Given the description of an element on the screen output the (x, y) to click on. 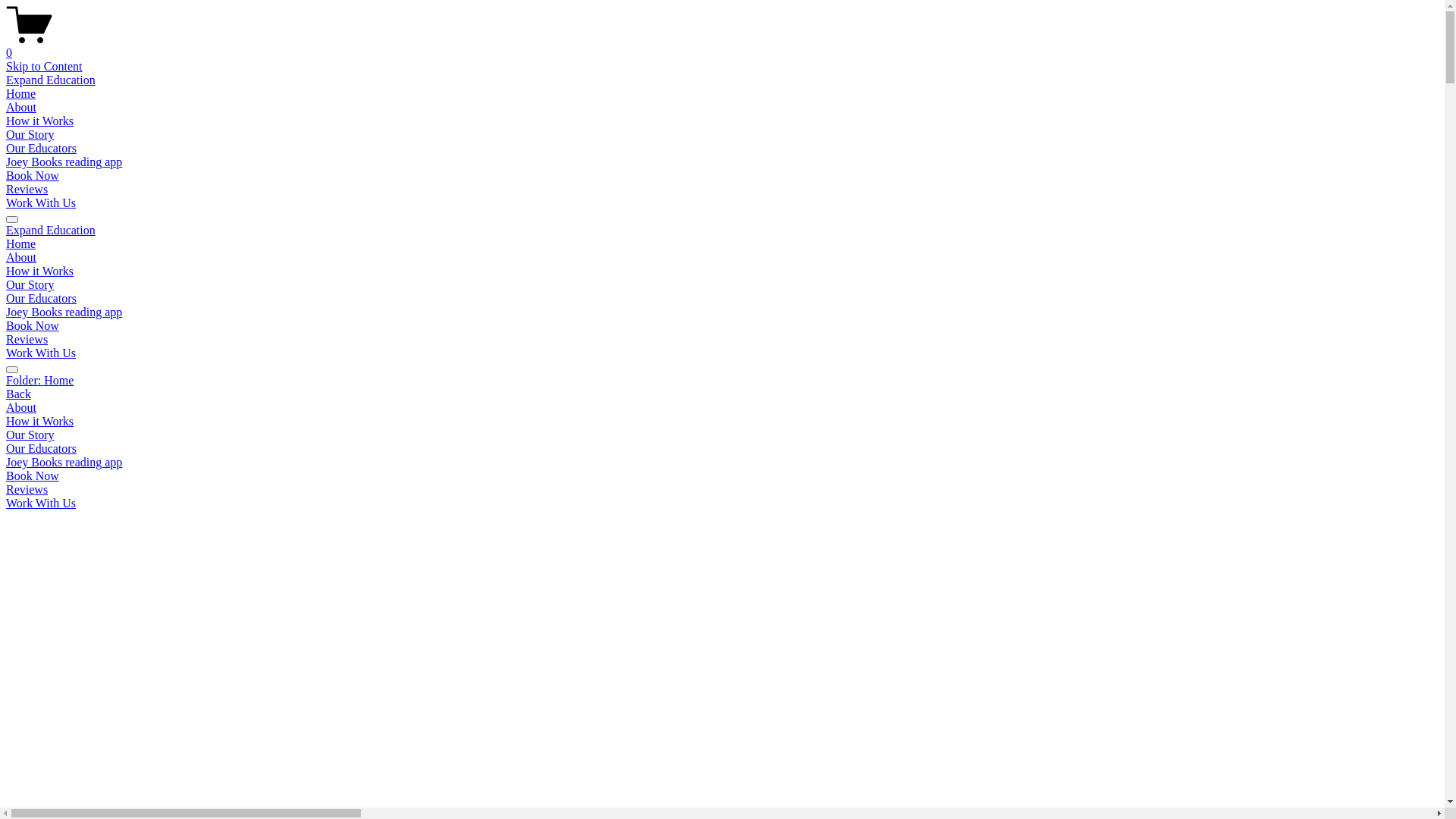
Our Educators Element type: text (722, 448)
How it Works Element type: text (39, 270)
Work With Us Element type: text (722, 503)
Our Educators Element type: text (41, 147)
Work With Us Element type: text (40, 352)
Our Story Element type: text (30, 284)
Back Element type: text (18, 393)
About Element type: text (722, 407)
About Element type: text (21, 106)
Joey Books reading app Element type: text (722, 462)
Work With Us Element type: text (40, 202)
Home Element type: text (20, 243)
Reviews Element type: text (26, 188)
Reviews Element type: text (26, 338)
Book Now Element type: text (32, 175)
Folder: Home Element type: text (722, 380)
Skip to Content Element type: text (43, 65)
Joey Books reading app Element type: text (64, 311)
How it Works Element type: text (722, 421)
Book Now Element type: text (722, 476)
Expand Education Element type: text (50, 79)
Reviews Element type: text (722, 489)
Our Story Element type: text (30, 134)
Home Element type: text (20, 93)
Expand Education Element type: text (50, 229)
Book Now Element type: text (32, 325)
Our Story Element type: text (722, 435)
About Element type: text (21, 257)
0 Element type: text (722, 45)
Our Educators Element type: text (41, 297)
Joey Books reading app Element type: text (64, 161)
How it Works Element type: text (39, 120)
